Given the description of an element on the screen output the (x, y) to click on. 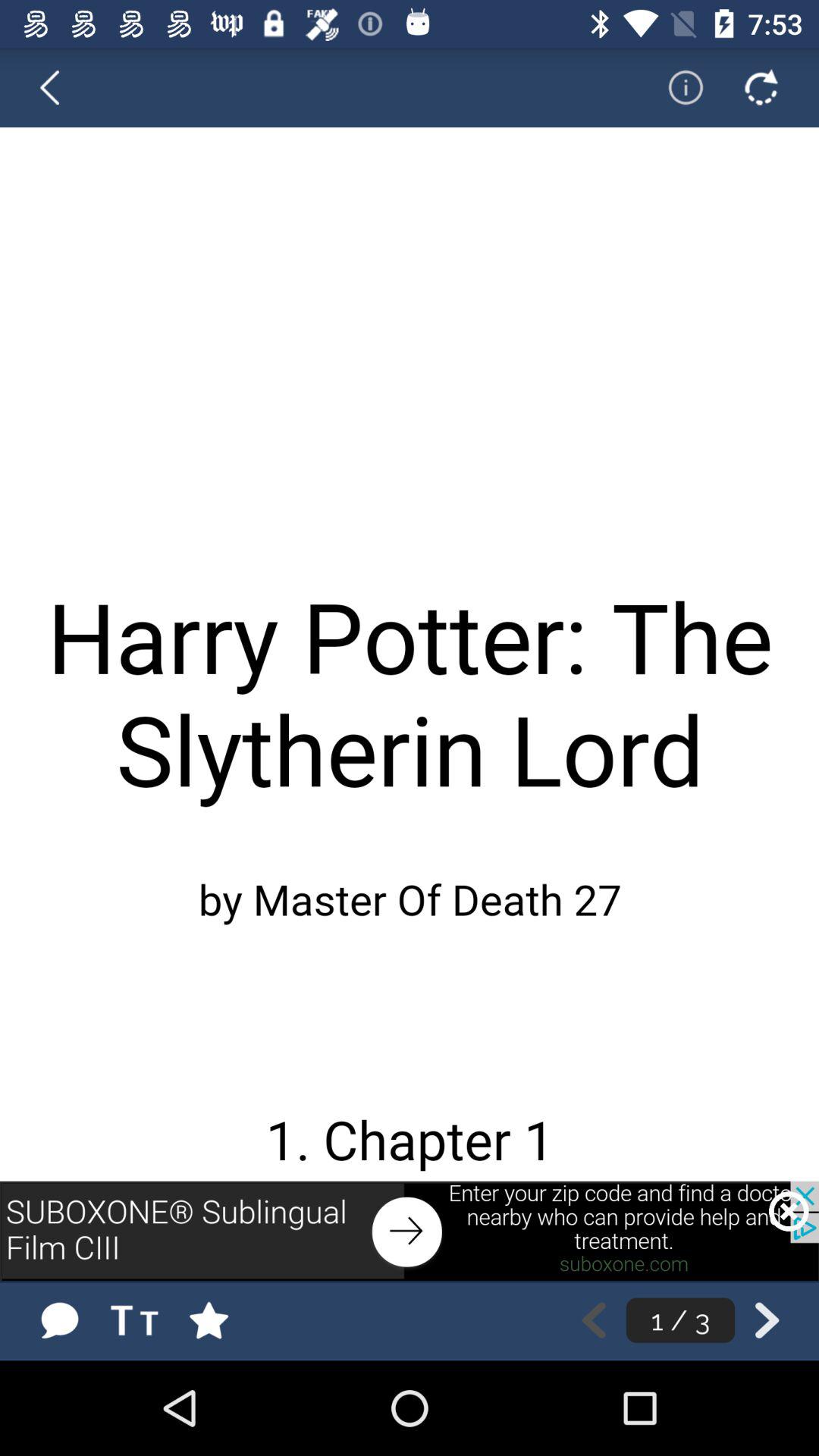
go back (59, 87)
